Given the description of an element on the screen output the (x, y) to click on. 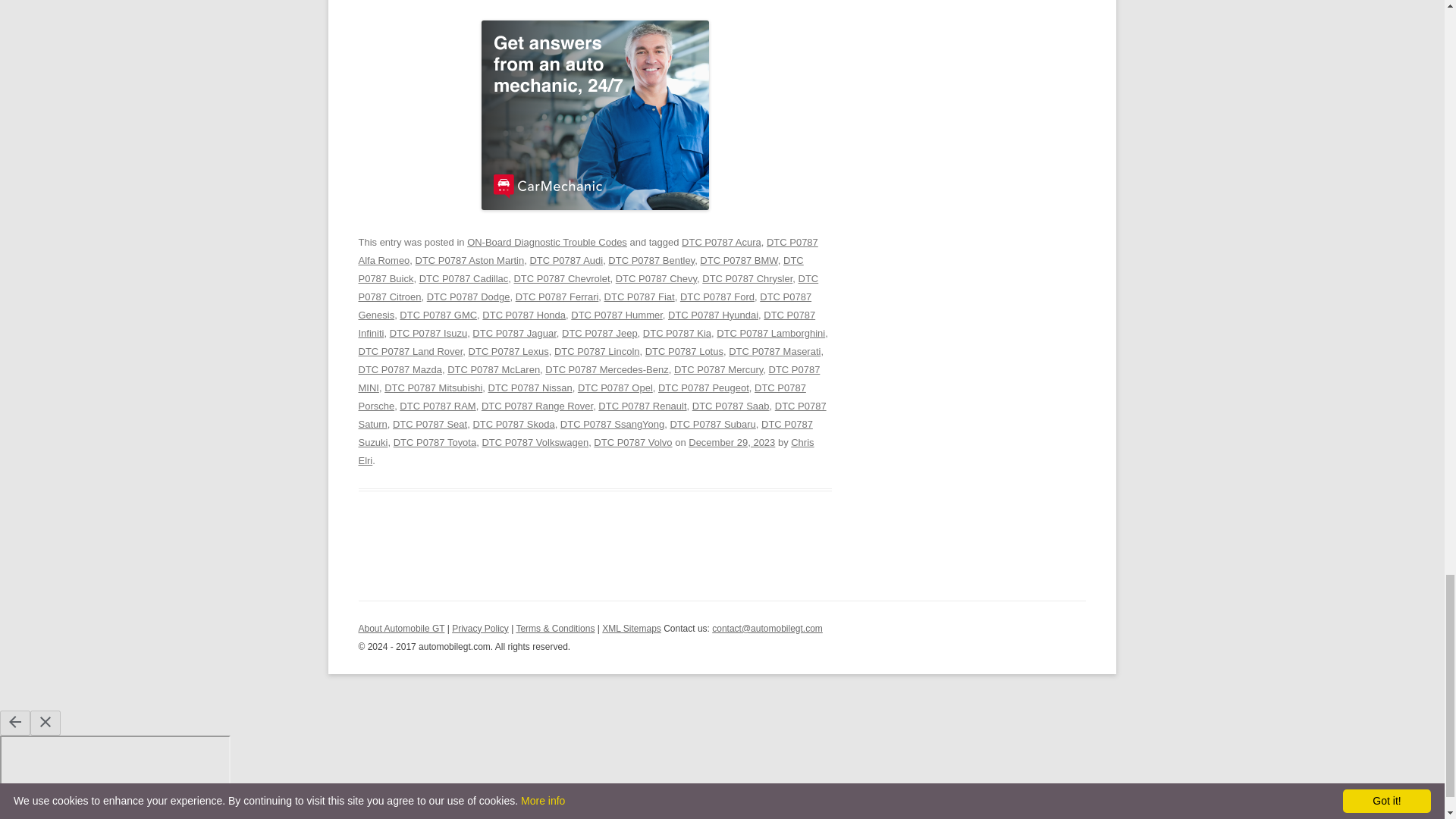
DTC P0787 Alfa Romeo (587, 251)
DTC P0787 Cadillac (463, 278)
DTC P0787 Aston Martin (469, 260)
DTC P0787 Honda (523, 315)
DTC P0787 Audi (565, 260)
DTC P0787 Fiat (639, 296)
DTC P0787 Ford (716, 296)
DTC P0787 Ferrari (556, 296)
DTC P0787 Buick (580, 269)
7:02 pm (731, 441)
DTC P0787 Bentley (651, 260)
DTC P0787 Acura (721, 242)
DTC P0787 Citroen (588, 287)
DTC P0787 Chevrolet (561, 278)
DTC P0787 Chrysler (746, 278)
